Given the description of an element on the screen output the (x, y) to click on. 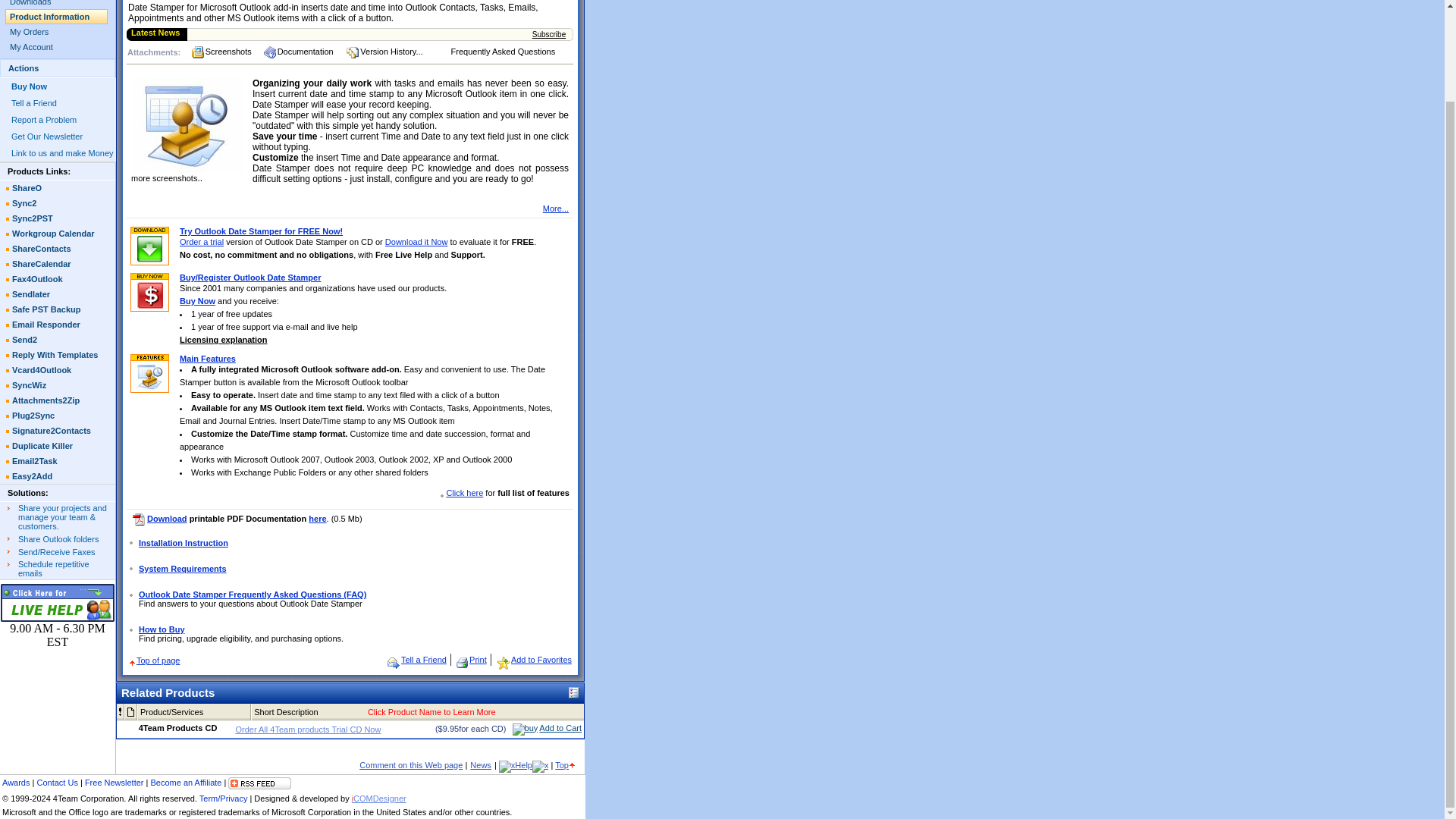
Send2 (57, 339)
Sync2PST (57, 218)
Help (523, 764)
Sendlater (57, 294)
ShareCalendar (57, 263)
Safe PST Backup (57, 309)
Link to us and make Money (62, 153)
Email Responder (57, 324)
ShareO (57, 187)
Workgroup Calendar (57, 233)
Sync2 (57, 202)
Fax4Outlook (57, 278)
ShareO software addon for Microsoft Outlook (58, 537)
Vcard4Outlook (57, 369)
